Given the description of an element on the screen output the (x, y) to click on. 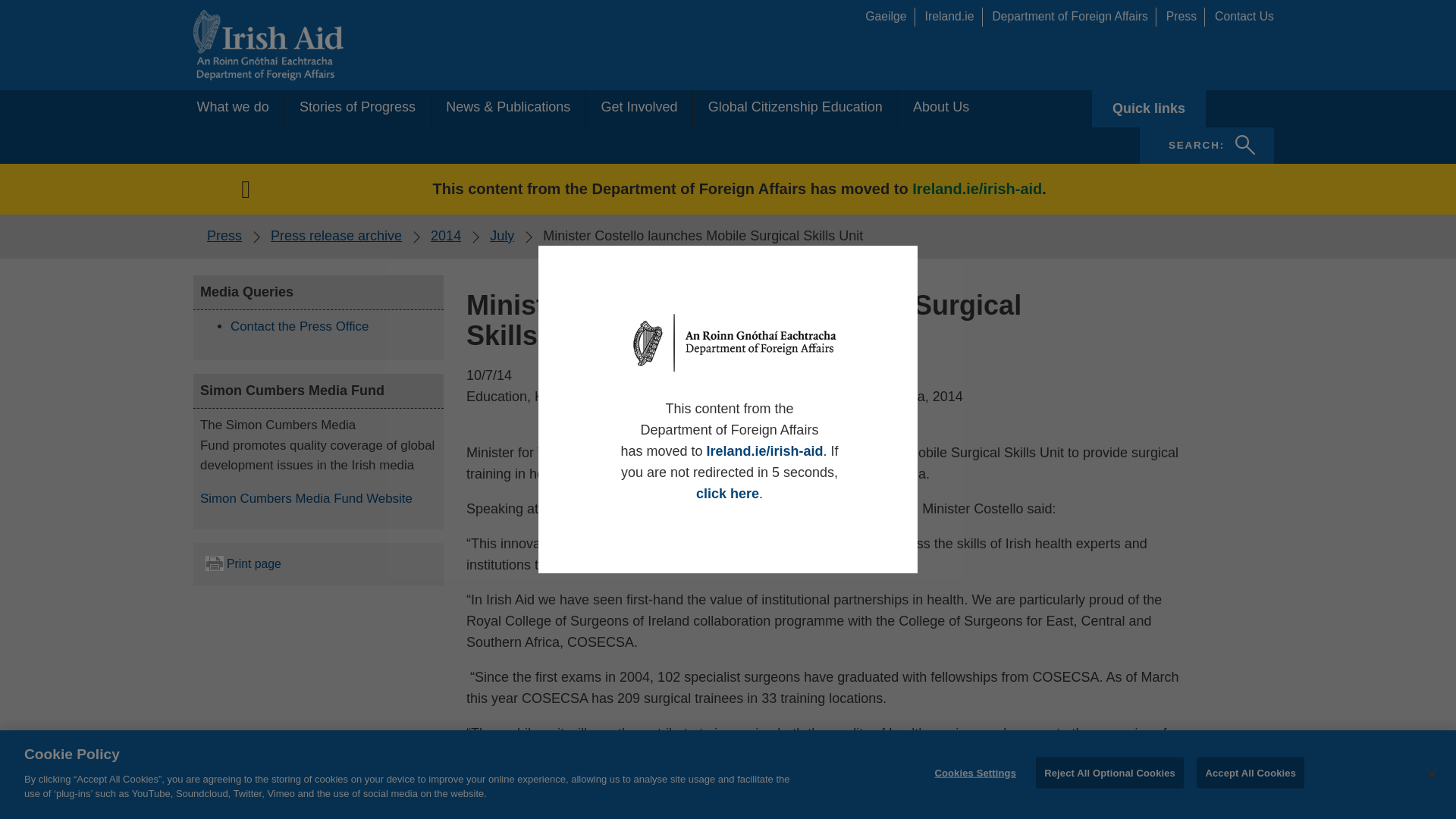
Press (1207, 145)
DFA home (223, 235)
Quick links (1244, 16)
Contact the Press Office (1148, 108)
Press (299, 326)
Ireland.ie (1185, 16)
What we do (953, 16)
Contact Us (232, 108)
Global Citizenship Education (1244, 16)
Show site search (794, 108)
About Us (1207, 145)
Press release archive (941, 108)
Department of Foreign Affairs (335, 235)
Simon Cumbers Media Fund Website (1073, 16)
